Given the description of an element on the screen output the (x, y) to click on. 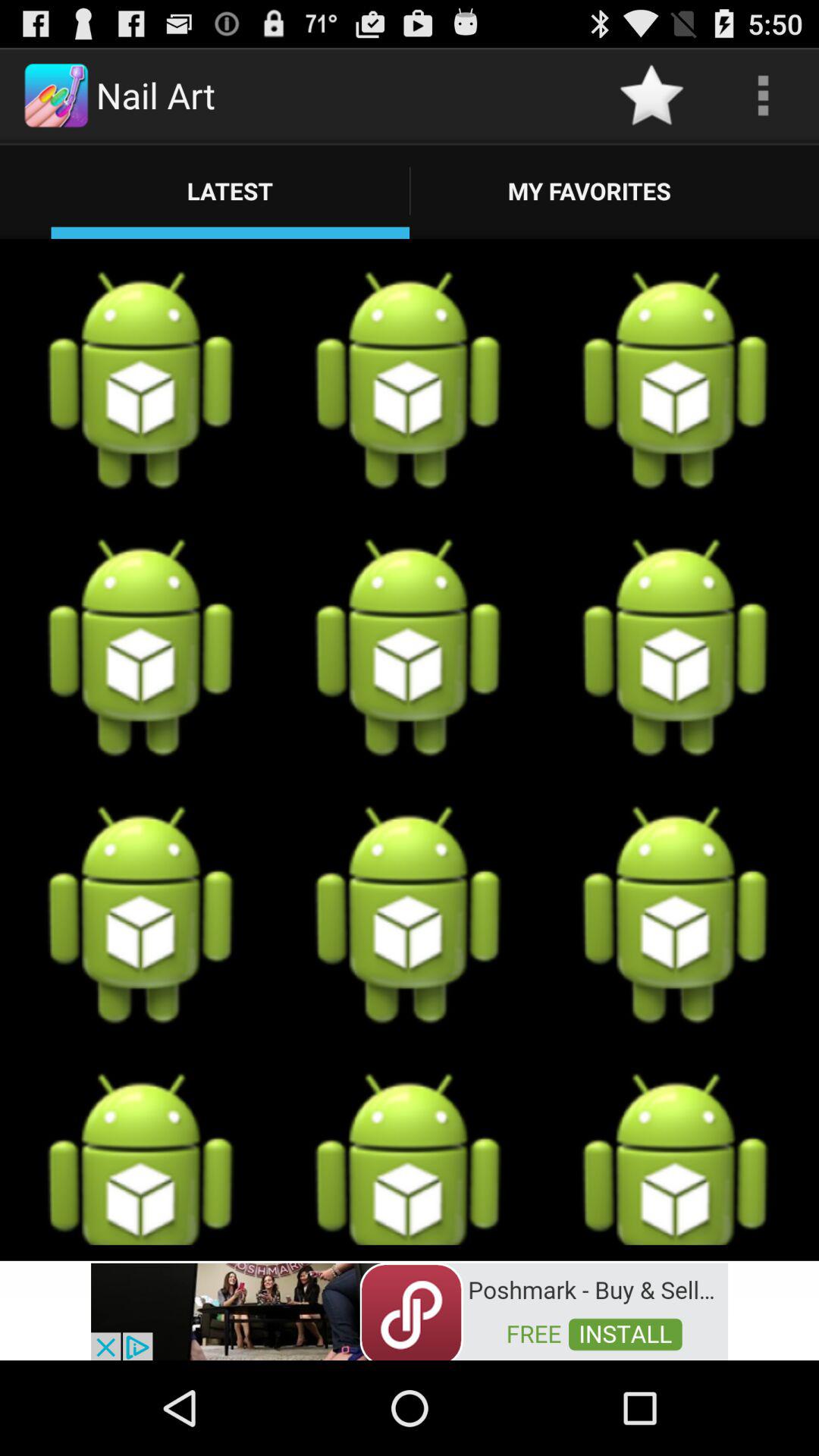
menu (763, 95)
